Given the description of an element on the screen output the (x, y) to click on. 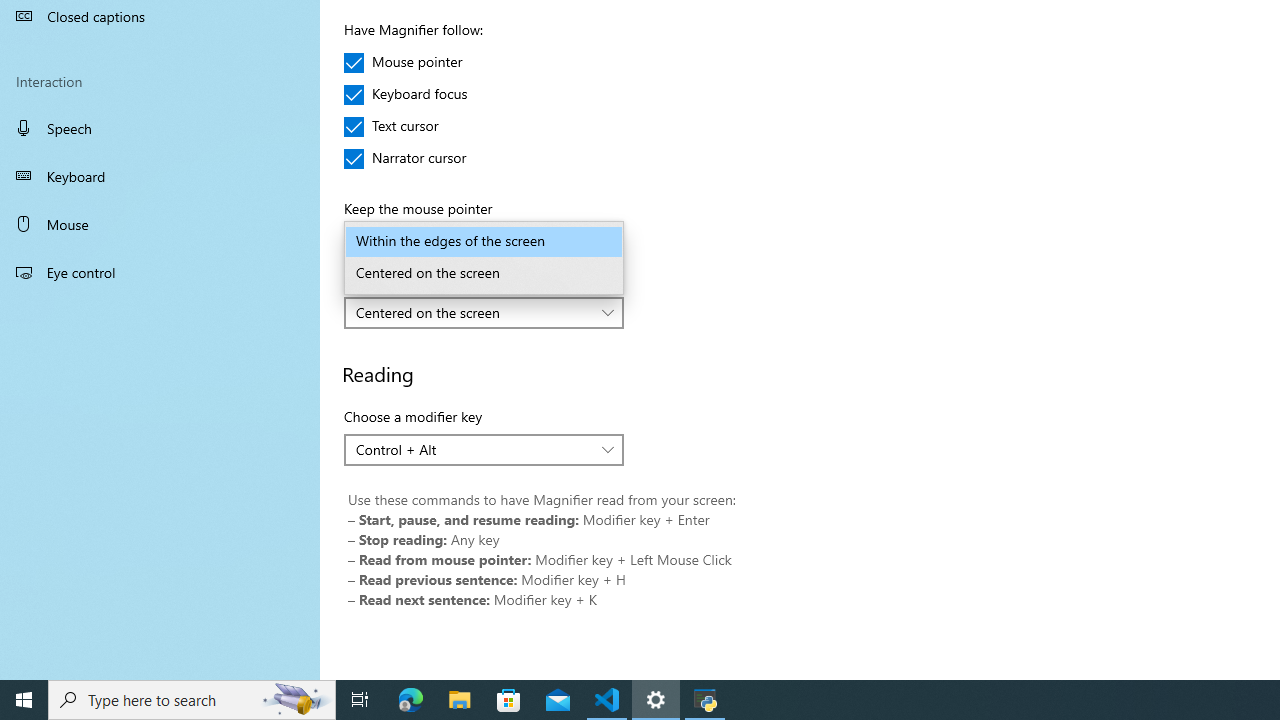
Mouse (160, 223)
Text cursor (403, 126)
File Explorer (460, 699)
Eye control (160, 271)
Mouse pointer (403, 62)
Settings - 1 running window (656, 699)
Microsoft Edge (411, 699)
Visual Studio Code - 1 running window (607, 699)
Centered on the screen (473, 312)
Type here to search (191, 699)
